Given the description of an element on the screen output the (x, y) to click on. 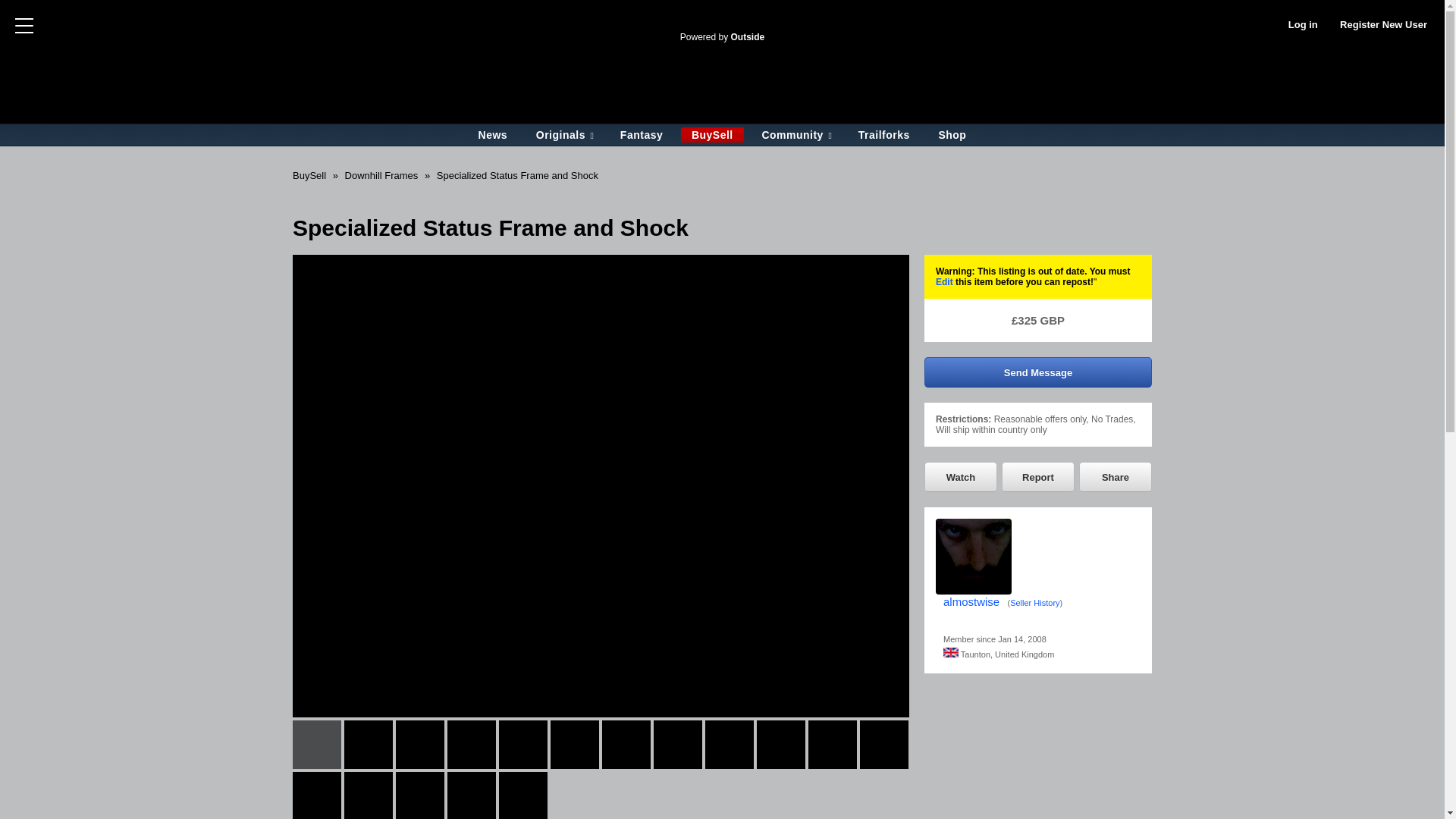
News (492, 134)
Community (795, 134)
Register New User (1383, 25)
Log in (1302, 25)
BuySell (309, 174)
Originals (563, 134)
BuySell (712, 134)
Shop (951, 134)
Pinkbike.com (721, 18)
Downhill Frames (382, 174)
Trailforks (883, 134)
Fantasy (641, 134)
